Given the description of an element on the screen output the (x, y) to click on. 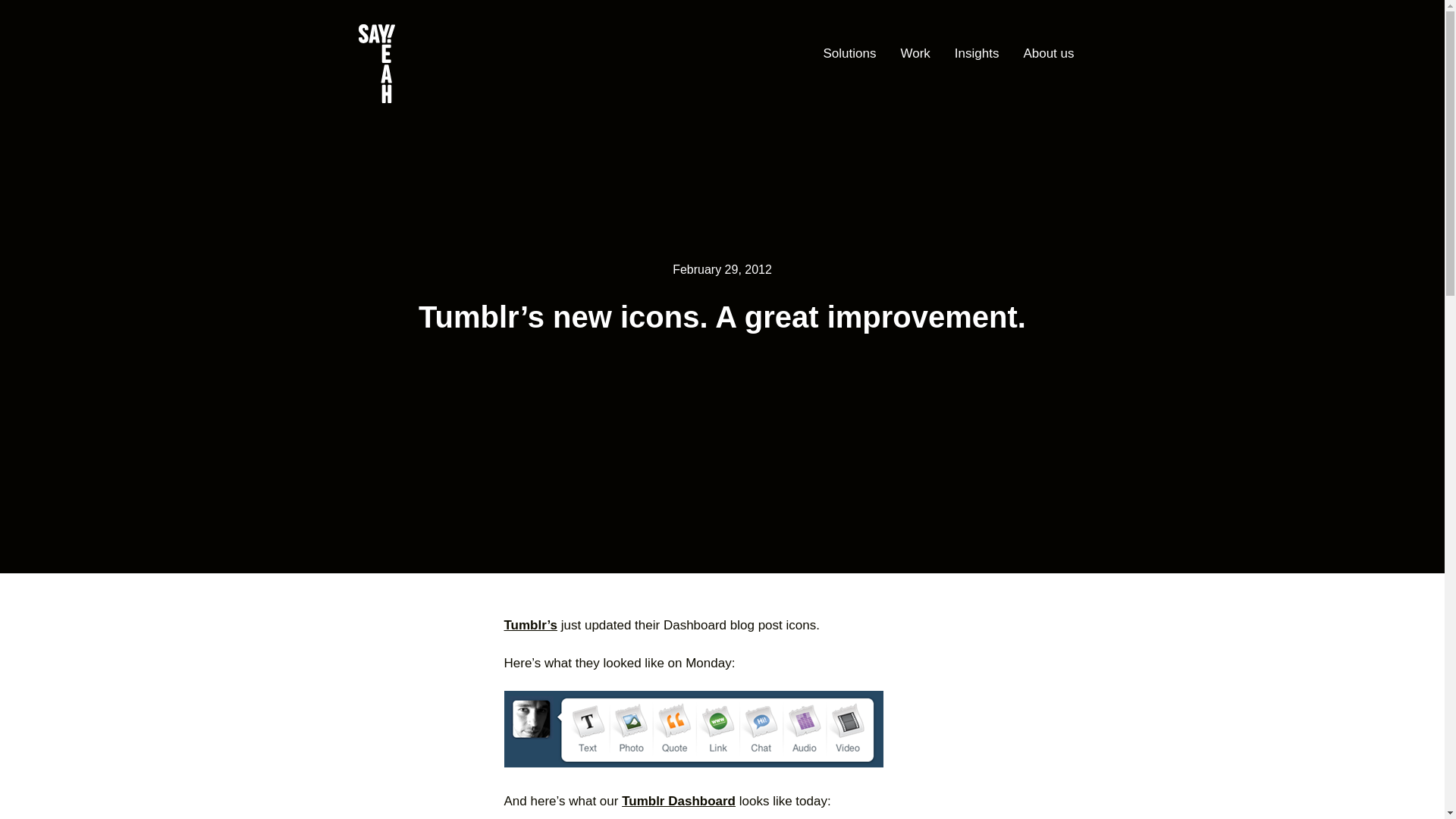
Insights (976, 54)
Tumblr Dashboard (678, 800)
Solutions (850, 54)
About us (1048, 54)
Work (914, 54)
